Given the description of an element on the screen output the (x, y) to click on. 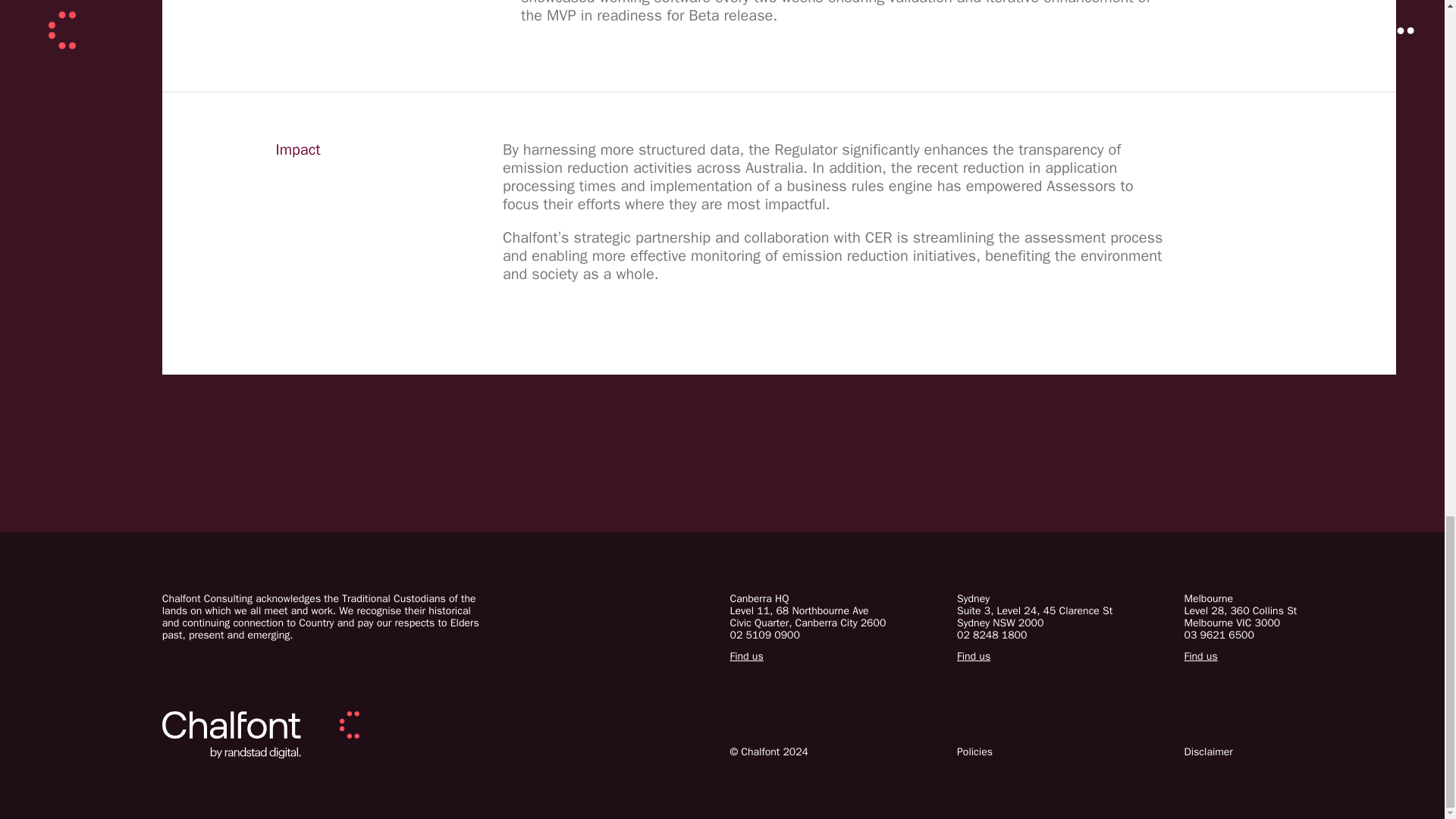
02 8248 1800 (991, 634)
02 5109 0900 (764, 634)
Canberra HQ (1062, 617)
Sydney (835, 598)
Find us (1062, 598)
Find us (1201, 656)
03 9621 6500 (745, 656)
Disclaimer (1219, 634)
Find us (1290, 617)
Melbourne (1209, 752)
Policies (973, 656)
